Given the description of an element on the screen output the (x, y) to click on. 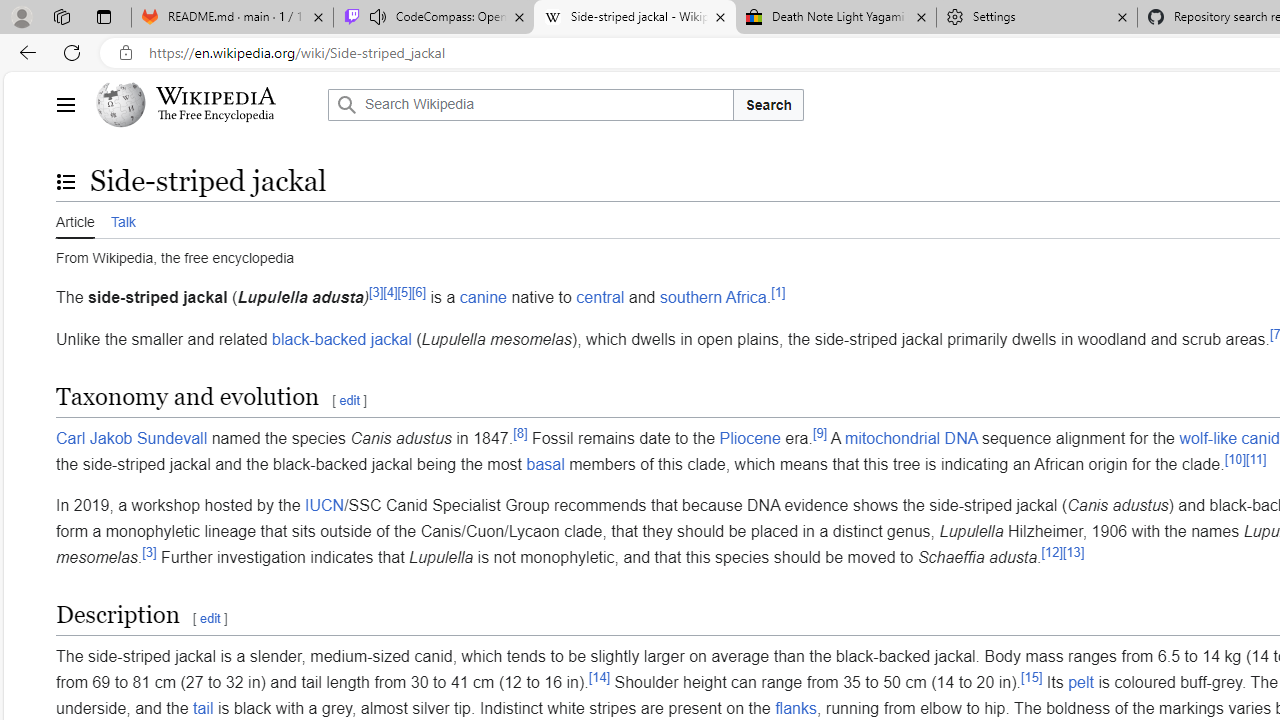
Search Wikipedia (530, 104)
[4] (390, 291)
Talk (122, 219)
southern Africa (712, 297)
edit (209, 619)
[13] (1073, 552)
Mute tab (377, 16)
[3] (149, 552)
Toggle the table of contents (65, 181)
[9] (819, 432)
